Given the description of an element on the screen output the (x, y) to click on. 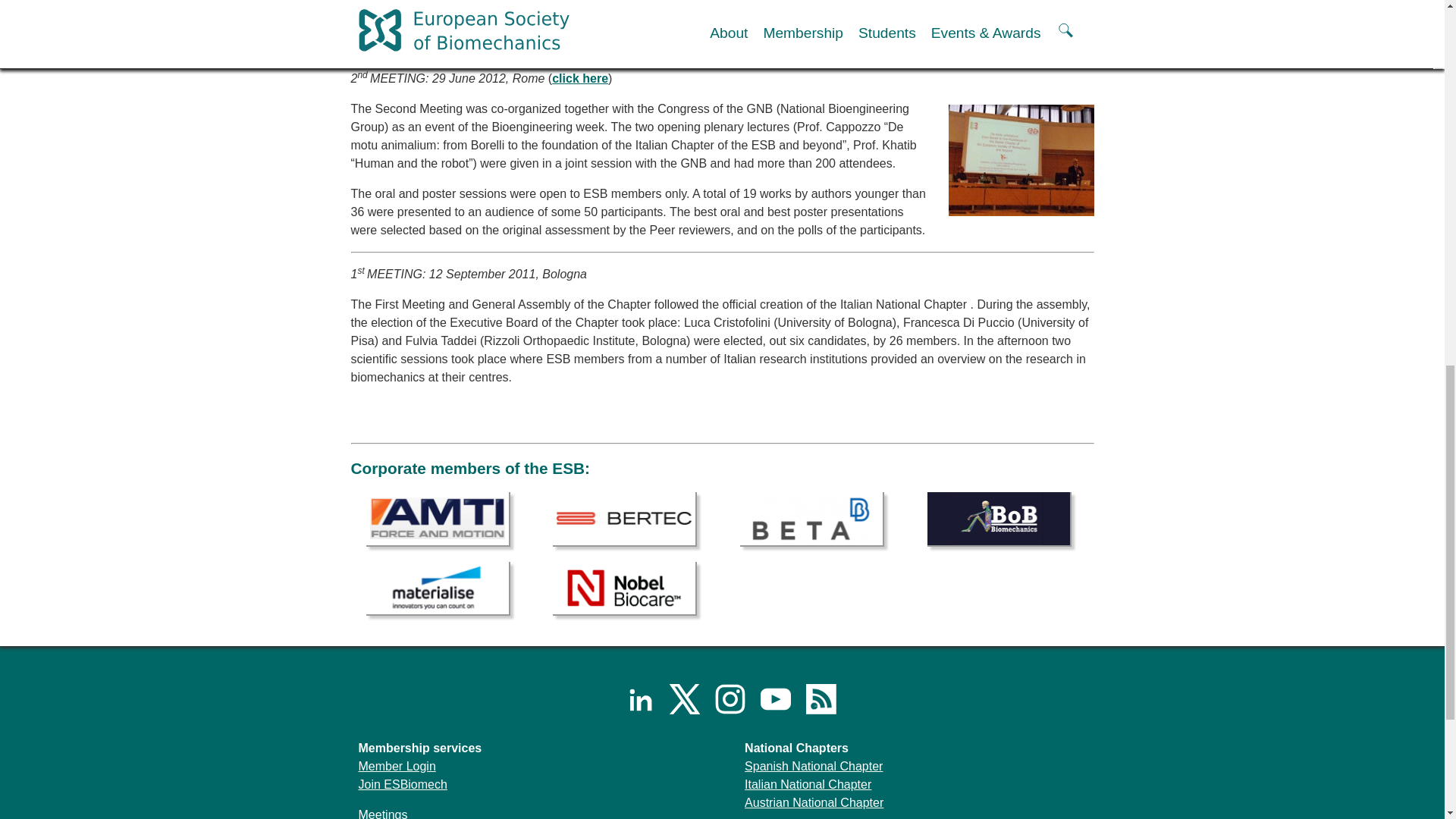
Beta CAE: Computer Aided Engineering software systems. (811, 517)
ESB is in LinkedIn (630, 698)
Rome 2012 (579, 78)
